Given the description of an element on the screen output the (x, y) to click on. 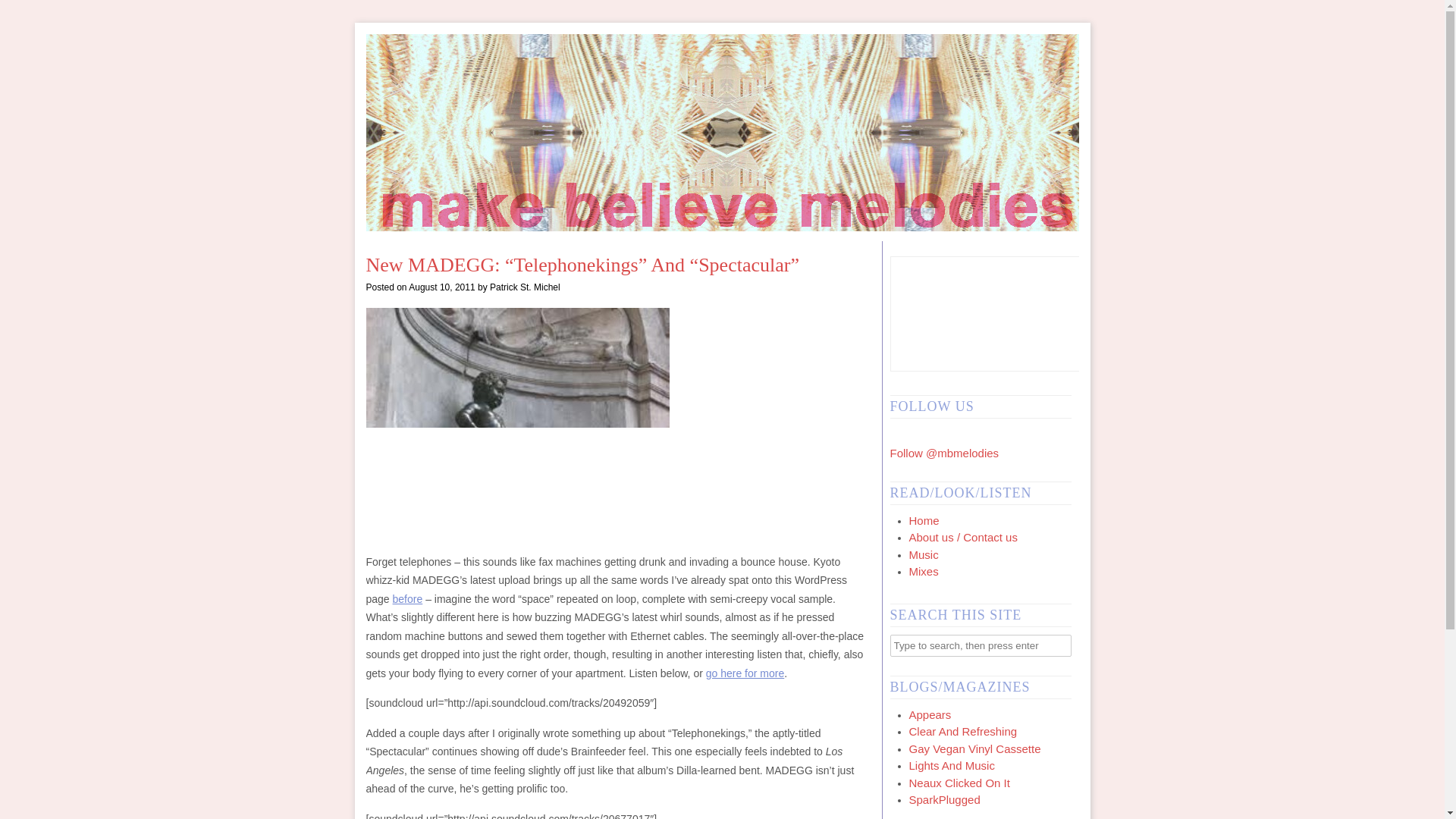
Appears (929, 714)
Home (923, 520)
Clear And Refreshing (962, 730)
Gay Vegan Vinyl Cassette (974, 748)
View all posts by Patrick St. Michel (524, 286)
Type to search, then press enter (980, 644)
go here for more (745, 673)
Neaux Clicked On It (958, 782)
SparkPlugged (943, 799)
Patrick St. Michel (524, 286)
